Given the description of an element on the screen output the (x, y) to click on. 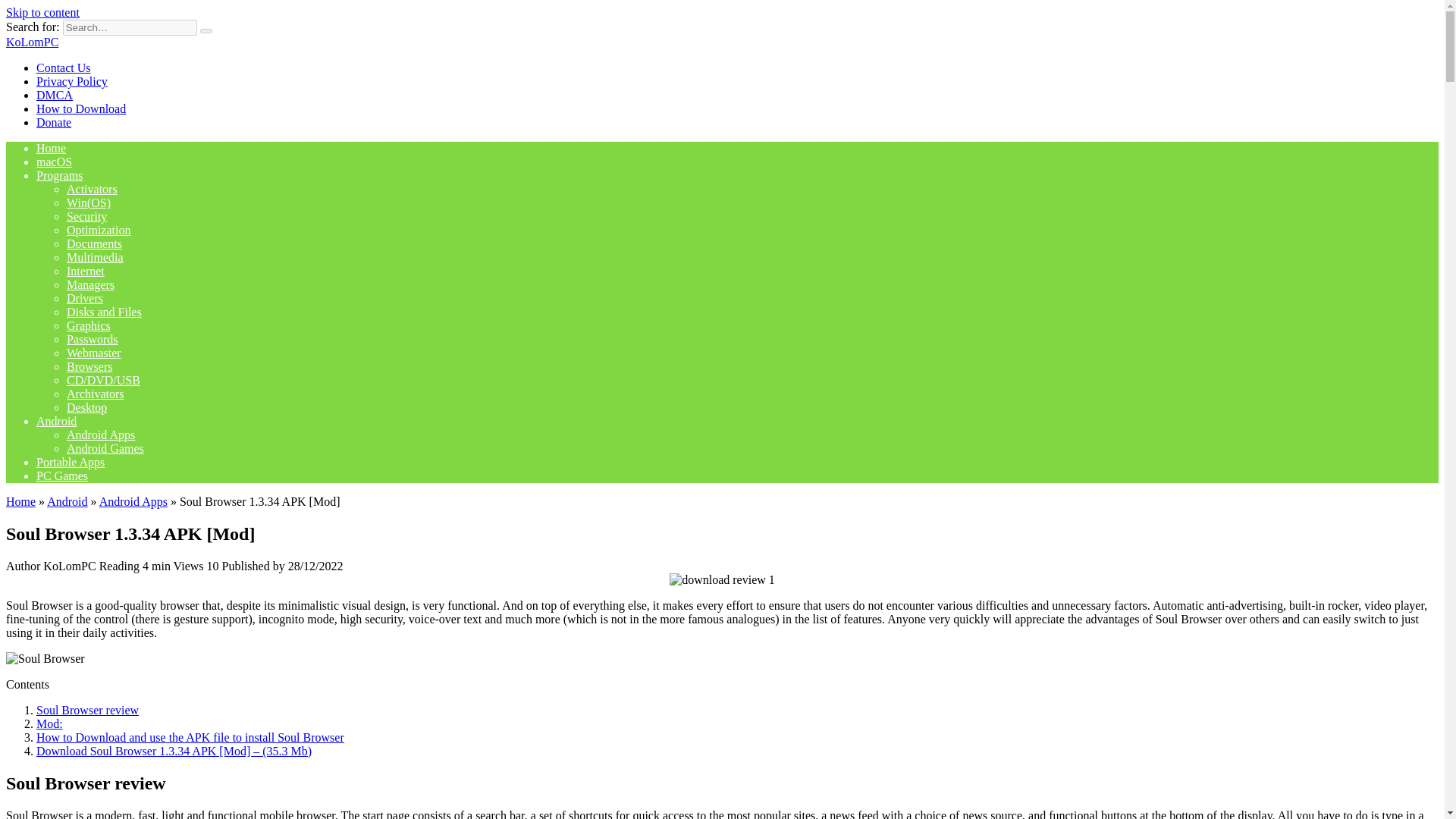
Documents (94, 243)
Contact Us (63, 67)
Skip to content (42, 11)
Passwords (91, 338)
Managers (90, 284)
Webmaster (93, 352)
Internet (85, 270)
Disks and Files (103, 311)
Android Apps (133, 501)
Android (56, 420)
